Given the description of an element on the screen output the (x, y) to click on. 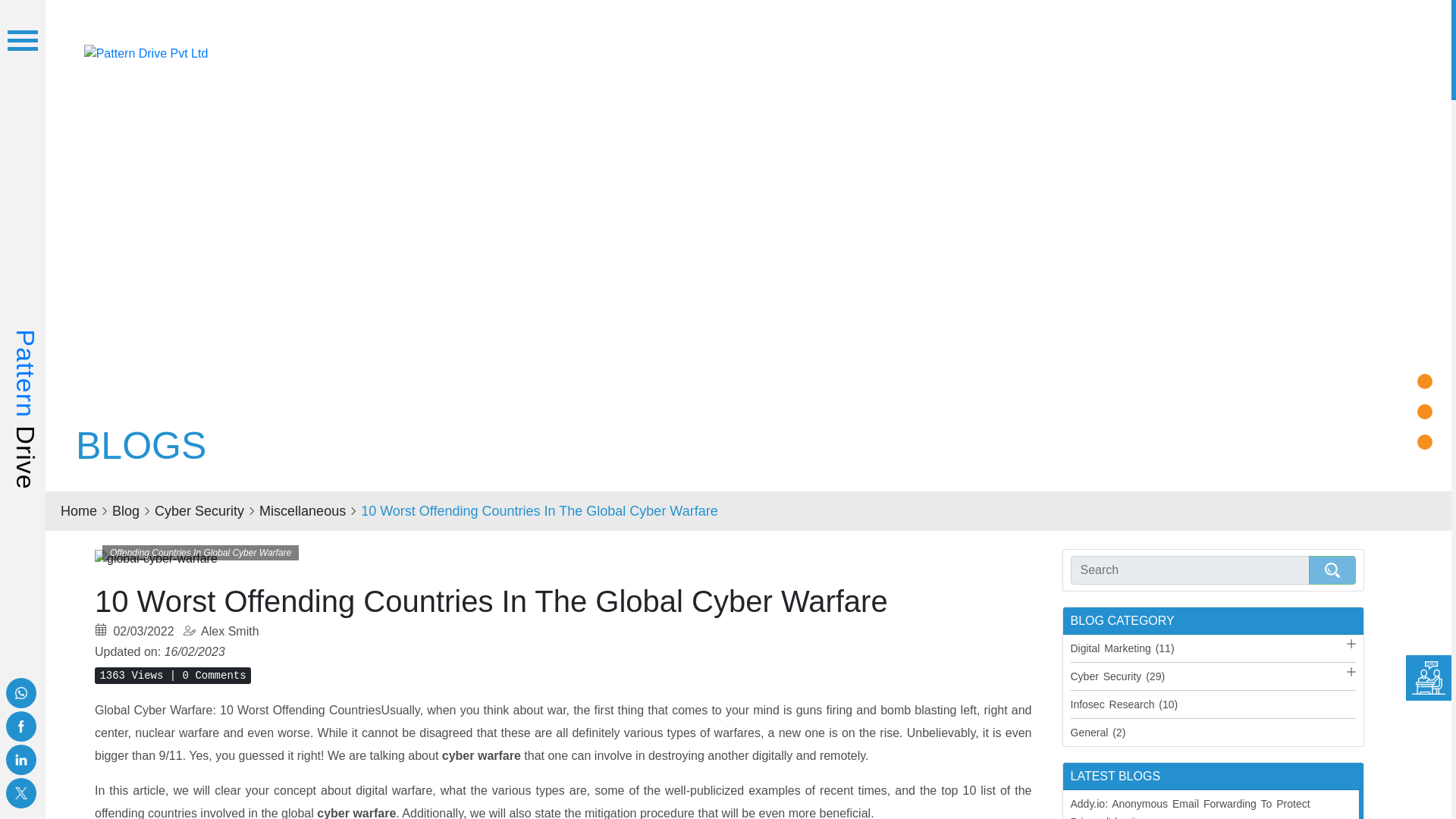
Login (1327, 50)
LOGIN (1327, 50)
Pattern Drive Private Limited (146, 51)
